Given the description of an element on the screen output the (x, y) to click on. 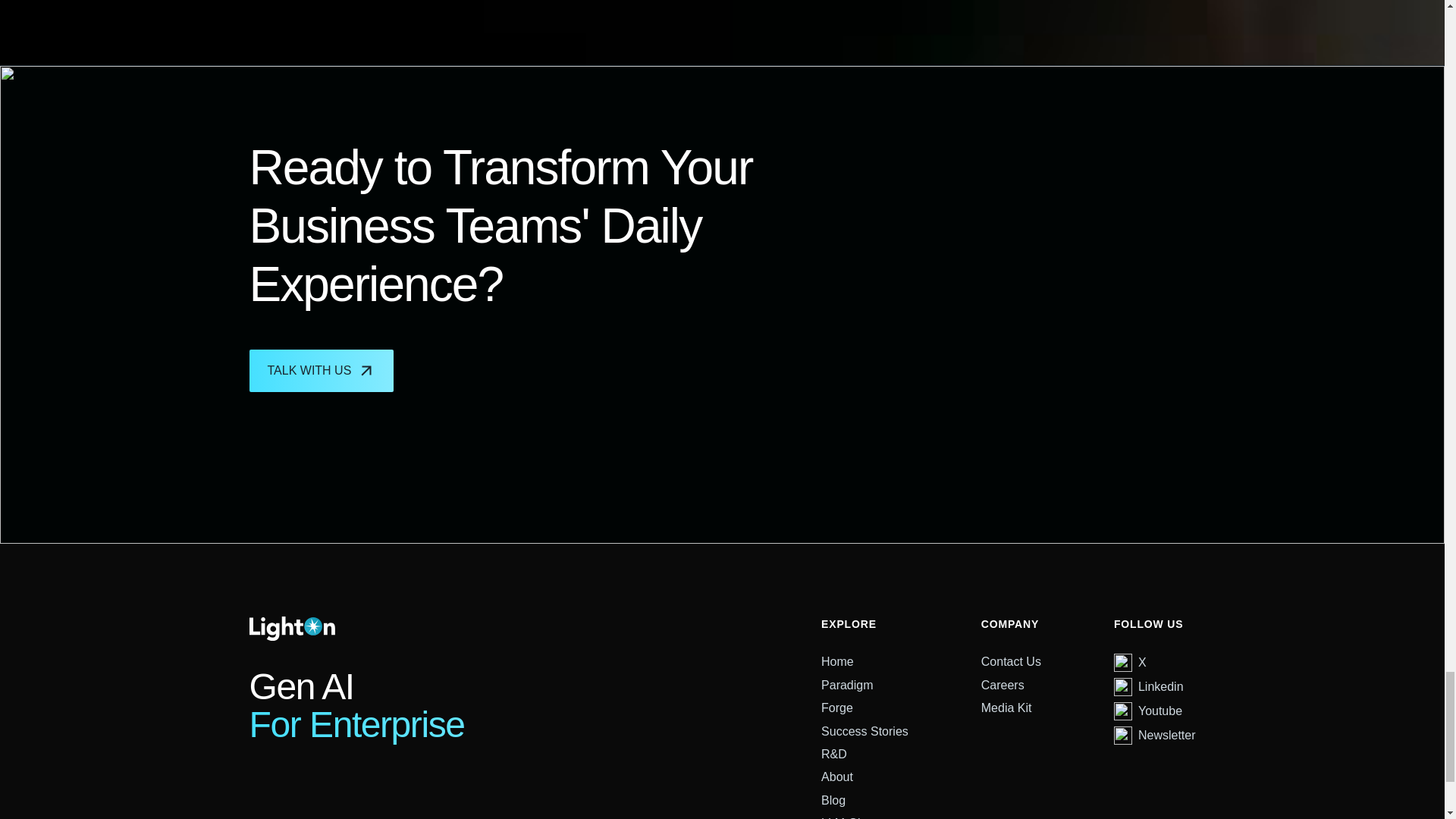
Careers (1003, 685)
Contact Us (1011, 661)
Newsletter (1154, 735)
Linkedin (1148, 686)
Media Kit (1006, 707)
About (837, 776)
Success Stories (864, 731)
LLM Glossary (858, 815)
X (1130, 662)
Blog (833, 800)
